Given the description of an element on the screen output the (x, y) to click on. 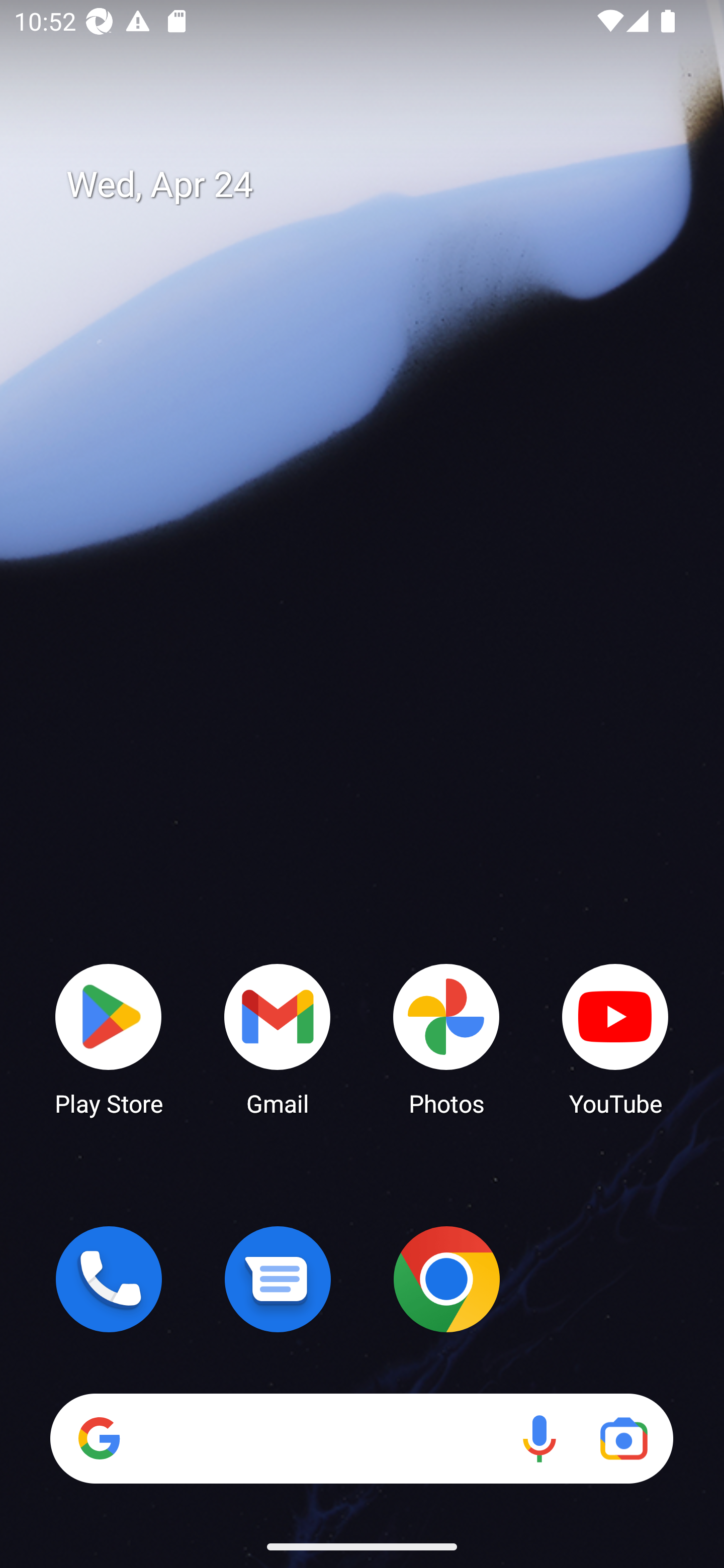
Wed, Apr 24 (375, 184)
Play Store (108, 1038)
Gmail (277, 1038)
Photos (445, 1038)
YouTube (615, 1038)
Phone (108, 1279)
Messages (277, 1279)
Chrome (446, 1279)
Search Voice search Google Lens (361, 1438)
Voice search (539, 1438)
Google Lens (623, 1438)
